Given the description of an element on the screen output the (x, y) to click on. 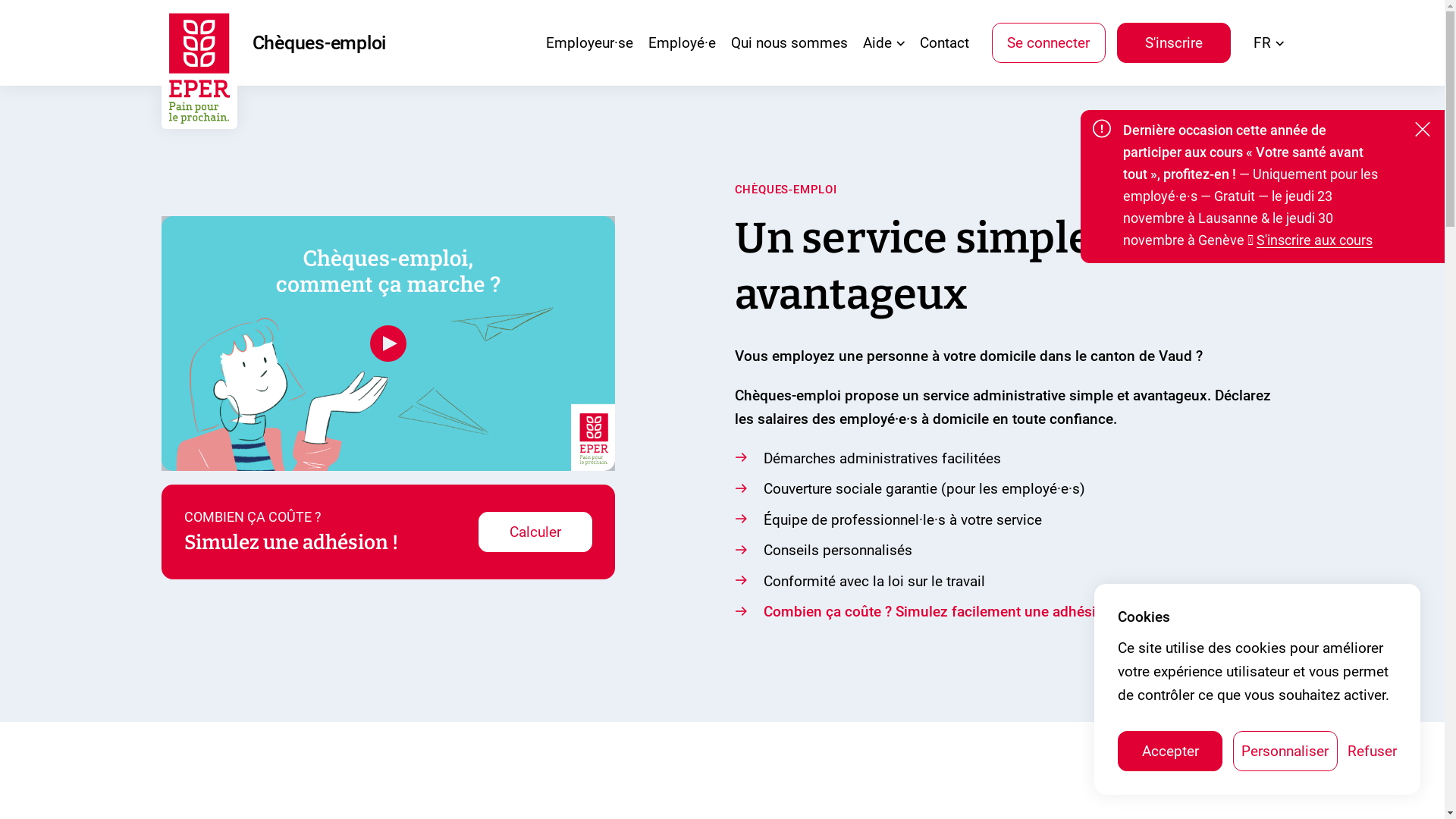
Se connecter Element type: text (1048, 42)
Contact Element type: text (943, 42)
S'inscrire Element type: text (1173, 42)
Refuser Element type: text (1371, 750)
Calculer Element type: text (534, 531)
Qui nous sommes Element type: text (789, 42)
S'inscrire aux cours Element type: text (1314, 239)
Aide Element type: text (883, 42)
Accepter Element type: text (1169, 751)
FR Element type: text (1267, 42)
Personnaliser Element type: text (1285, 751)
